Given the description of an element on the screen output the (x, y) to click on. 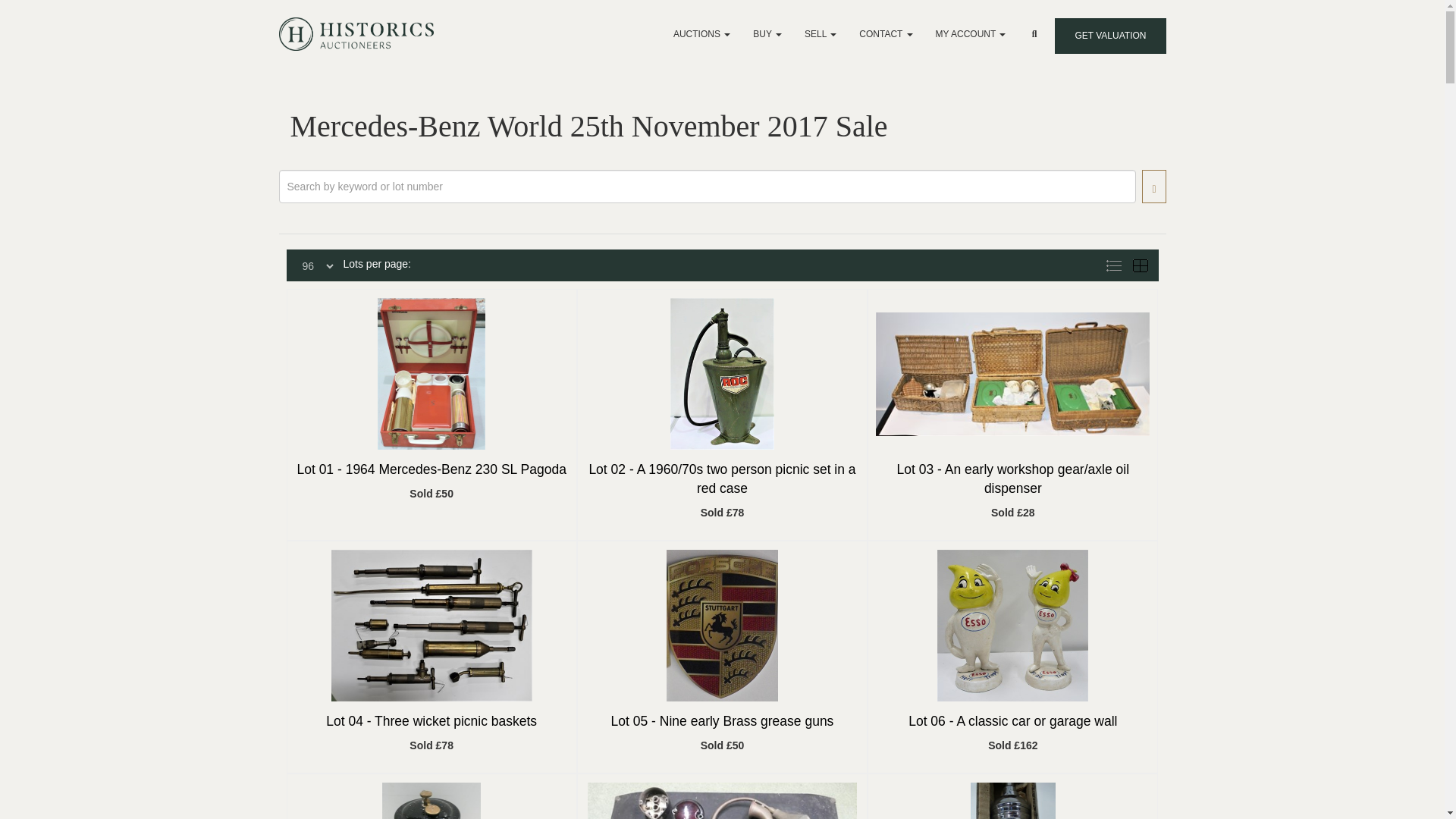
CONTACT (885, 33)
GET VALUATION (1110, 36)
BUY (767, 33)
AUCTIONS (701, 33)
SELL (820, 33)
MY ACCOUNT (970, 33)
Lot 01 - 1964 Mercedes-Benz 230 SL Pagoda (431, 469)
